Given the description of an element on the screen output the (x, y) to click on. 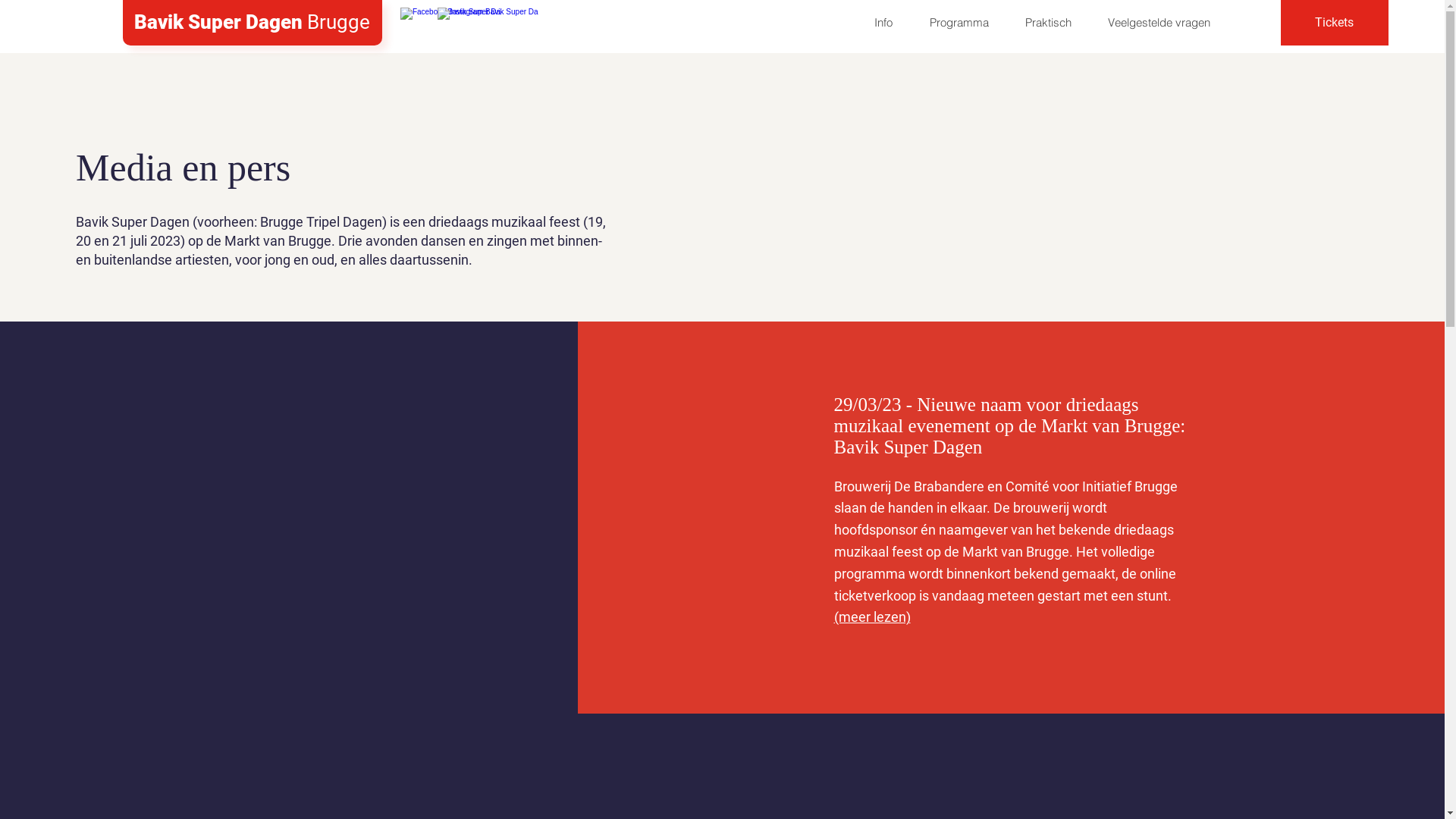
Praktisch Element type: text (1047, 22)
(meer lezen) Element type: text (872, 616)
Tickets Element type: text (1334, 22)
Info Element type: text (883, 22)
Veelgestelde vragen Element type: text (1157, 22)
Programma Element type: text (958, 22)
Bavik Super Dagen Brugge Element type: text (252, 21)
